Given the description of an element on the screen output the (x, y) to click on. 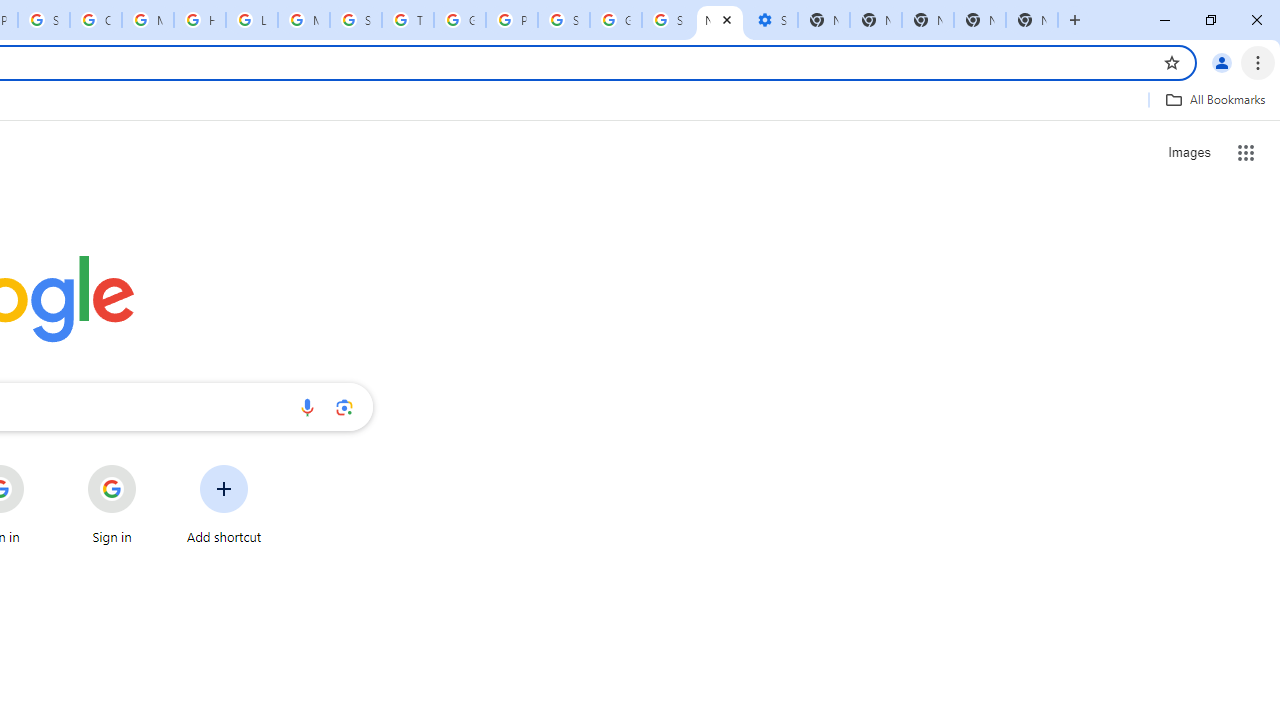
Google Cybersecurity Innovations - Google Safety Center (616, 20)
